Given the description of an element on the screen output the (x, y) to click on. 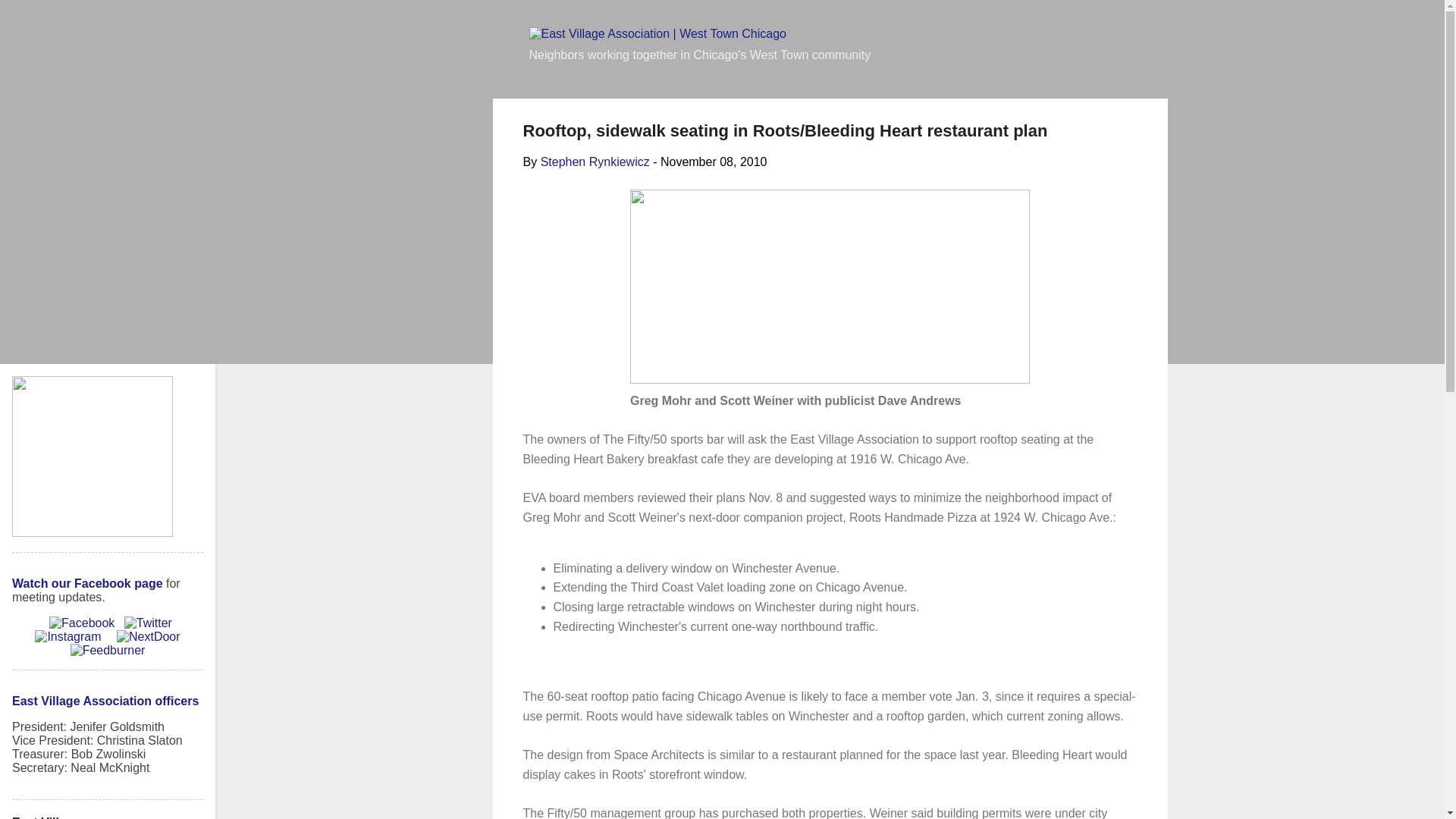
Watch our Facebook page (87, 583)
author profile (594, 161)
Search (32, 18)
permanent link (714, 161)
Stephen Rynkiewicz (594, 161)
November 08, 2010 (714, 161)
